Given the description of an element on the screen output the (x, y) to click on. 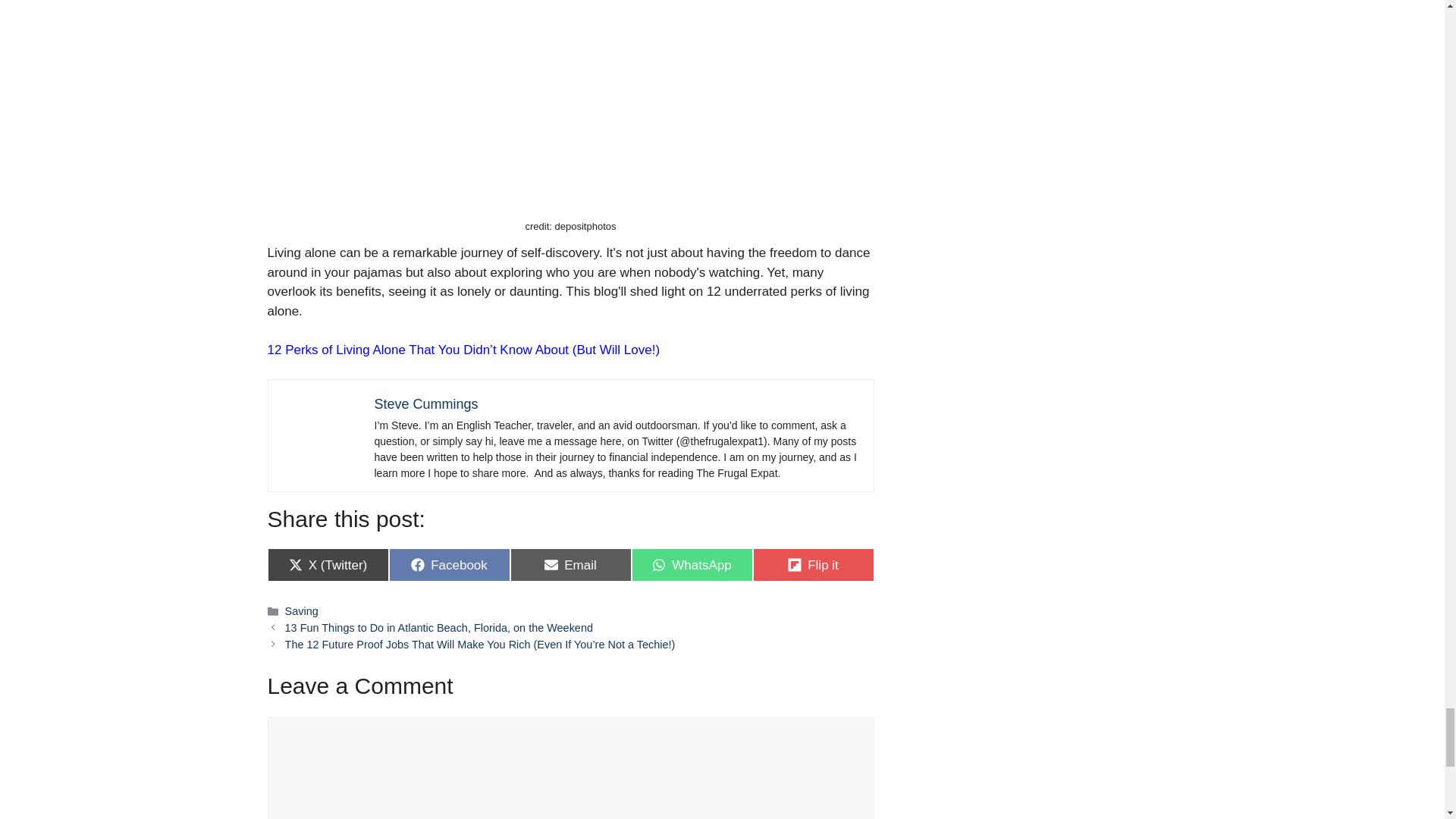
Saving (569, 564)
Steve Cummings (301, 611)
